Given the description of an element on the screen output the (x, y) to click on. 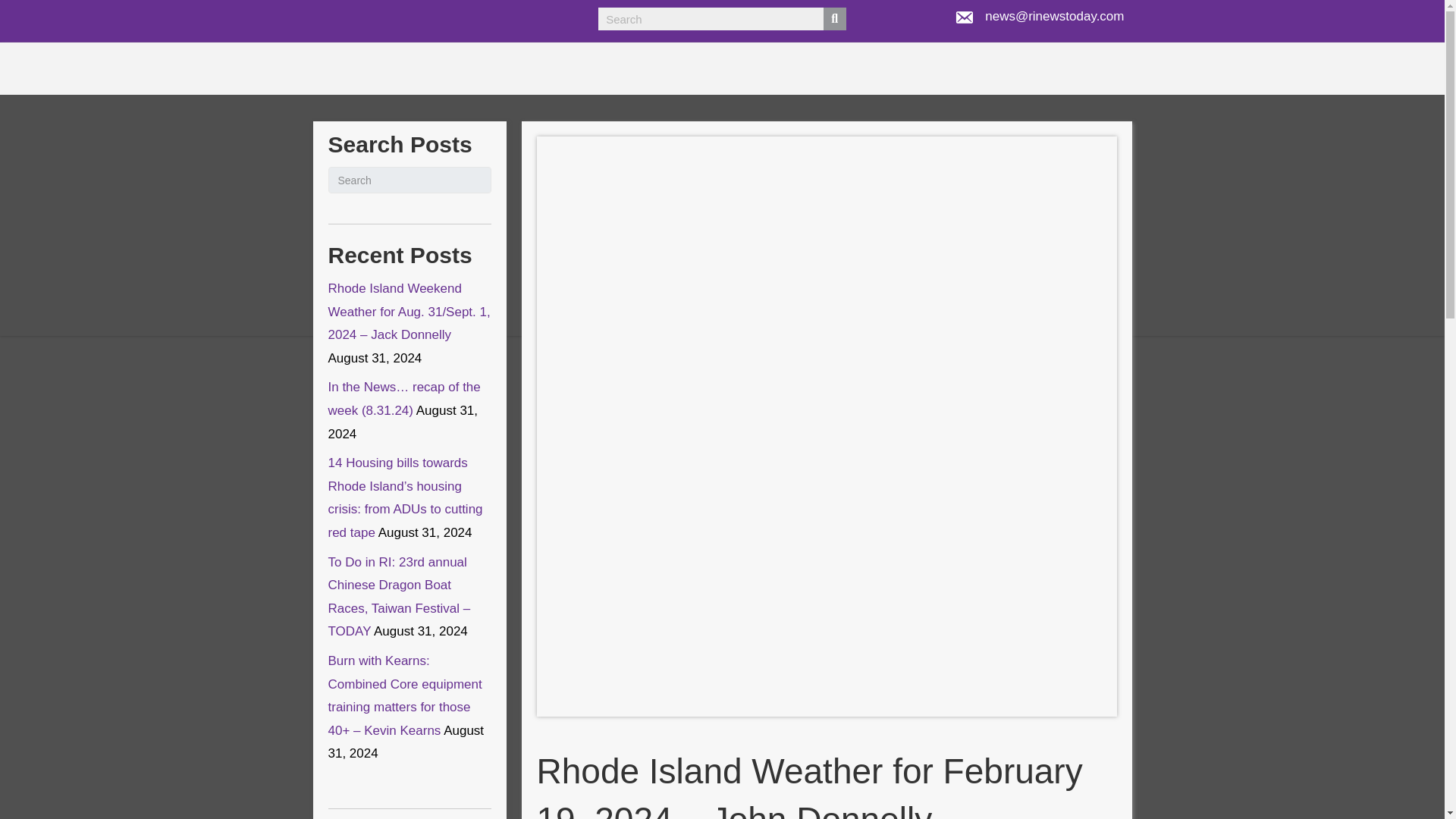
Search (711, 18)
Home (780, 188)
Our Team (923, 188)
News (841, 188)
RI News Today (459, 188)
Type and press Enter to search. (408, 180)
